Given the description of an element on the screen output the (x, y) to click on. 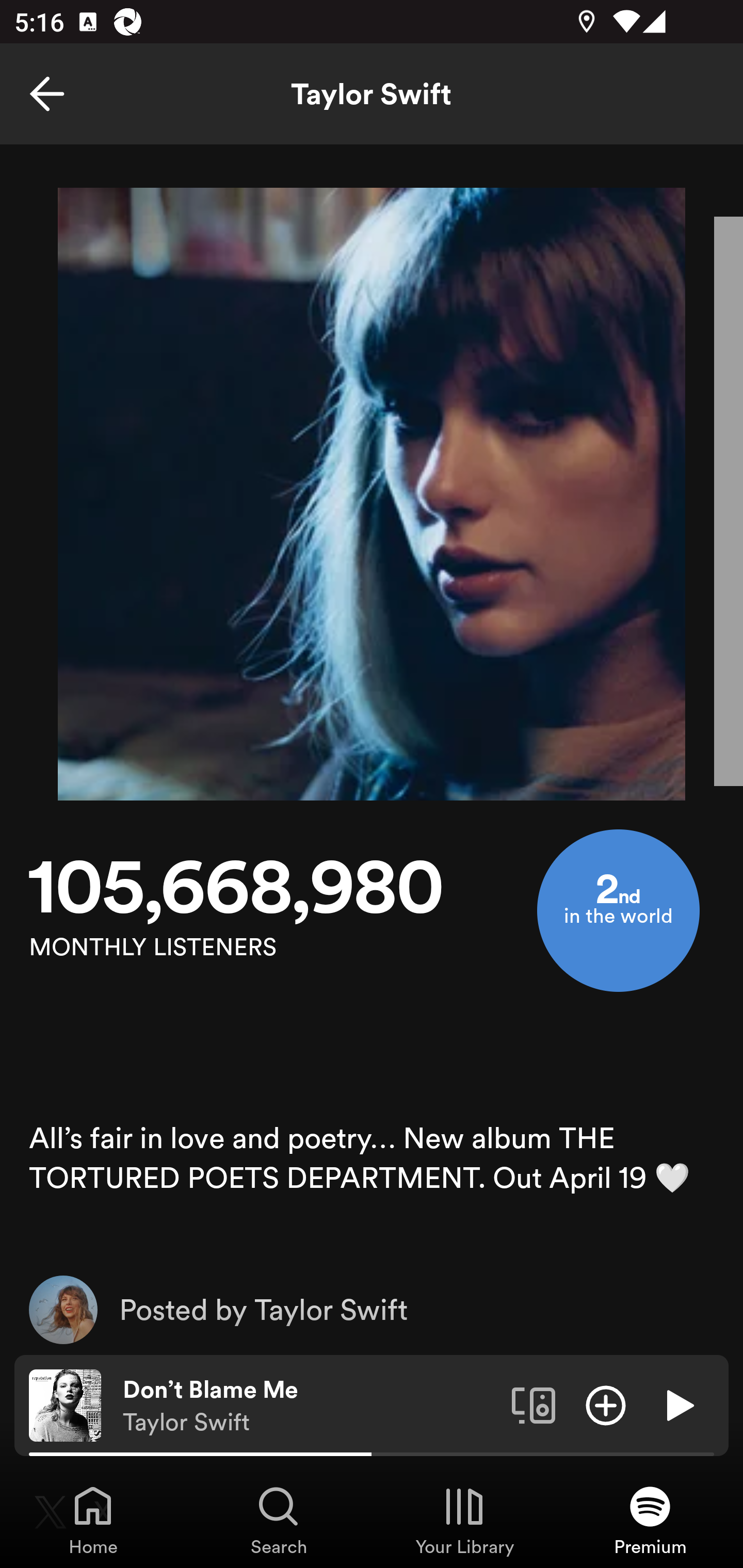
Back (46, 93)
Don’t Blame Me Taylor Swift (309, 1405)
The cover art of the currently playing track (64, 1404)
Connect to a device. Opens the devices menu (533, 1404)
Add item (605, 1404)
Play (677, 1404)
Home, Tab 1 of 4 Home Home (92, 1519)
Search, Tab 2 of 4 Search Search (278, 1519)
Your Library, Tab 3 of 4 Your Library Your Library (464, 1519)
Premium, Tab 4 of 4 Premium Premium (650, 1519)
